Given the description of an element on the screen output the (x, y) to click on. 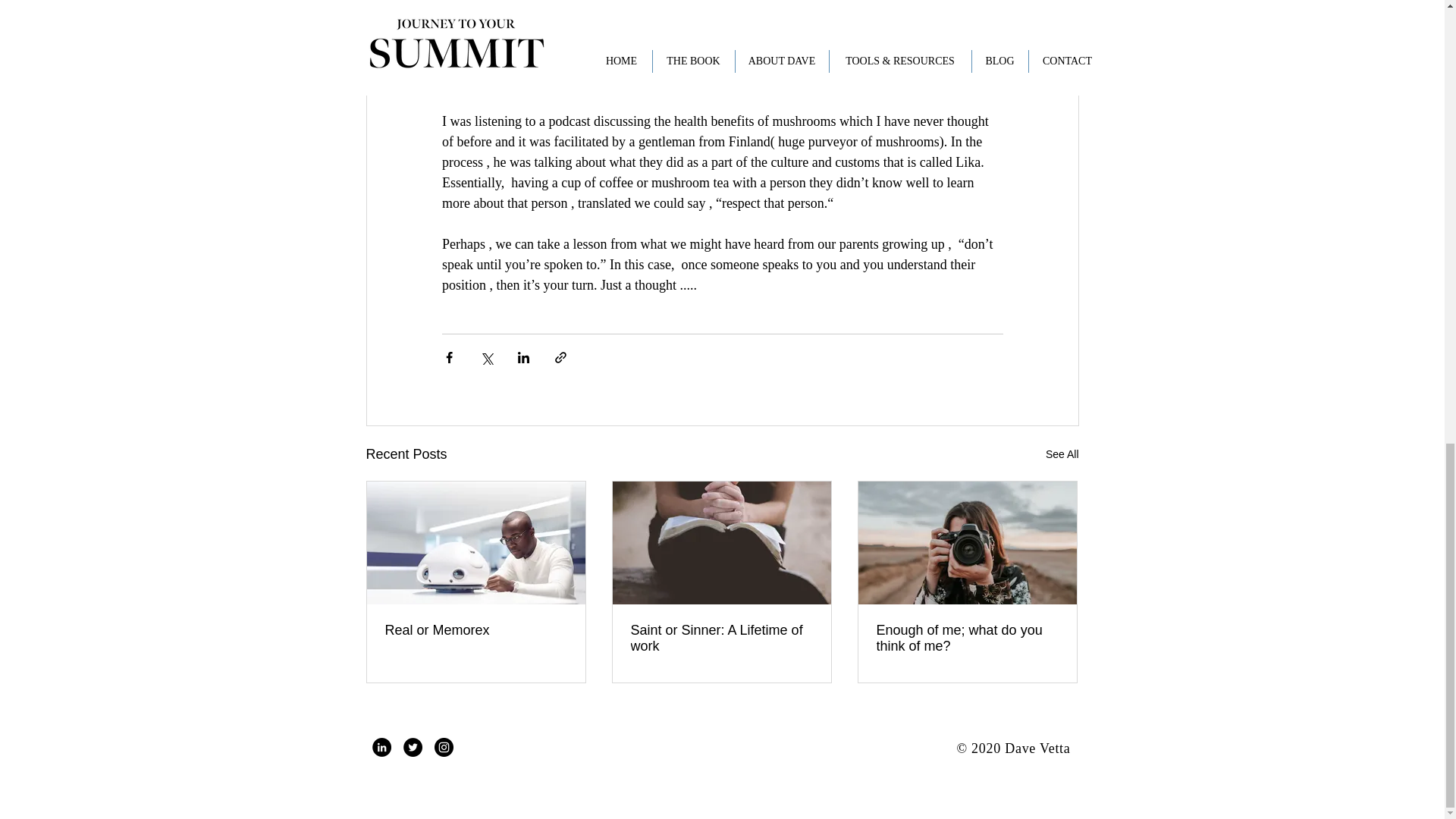
Saint or Sinner: A Lifetime of work (721, 638)
Real or Memorex (476, 630)
See All (1061, 454)
Enough of me; what do you think of me? (967, 638)
